Given the description of an element on the screen output the (x, y) to click on. 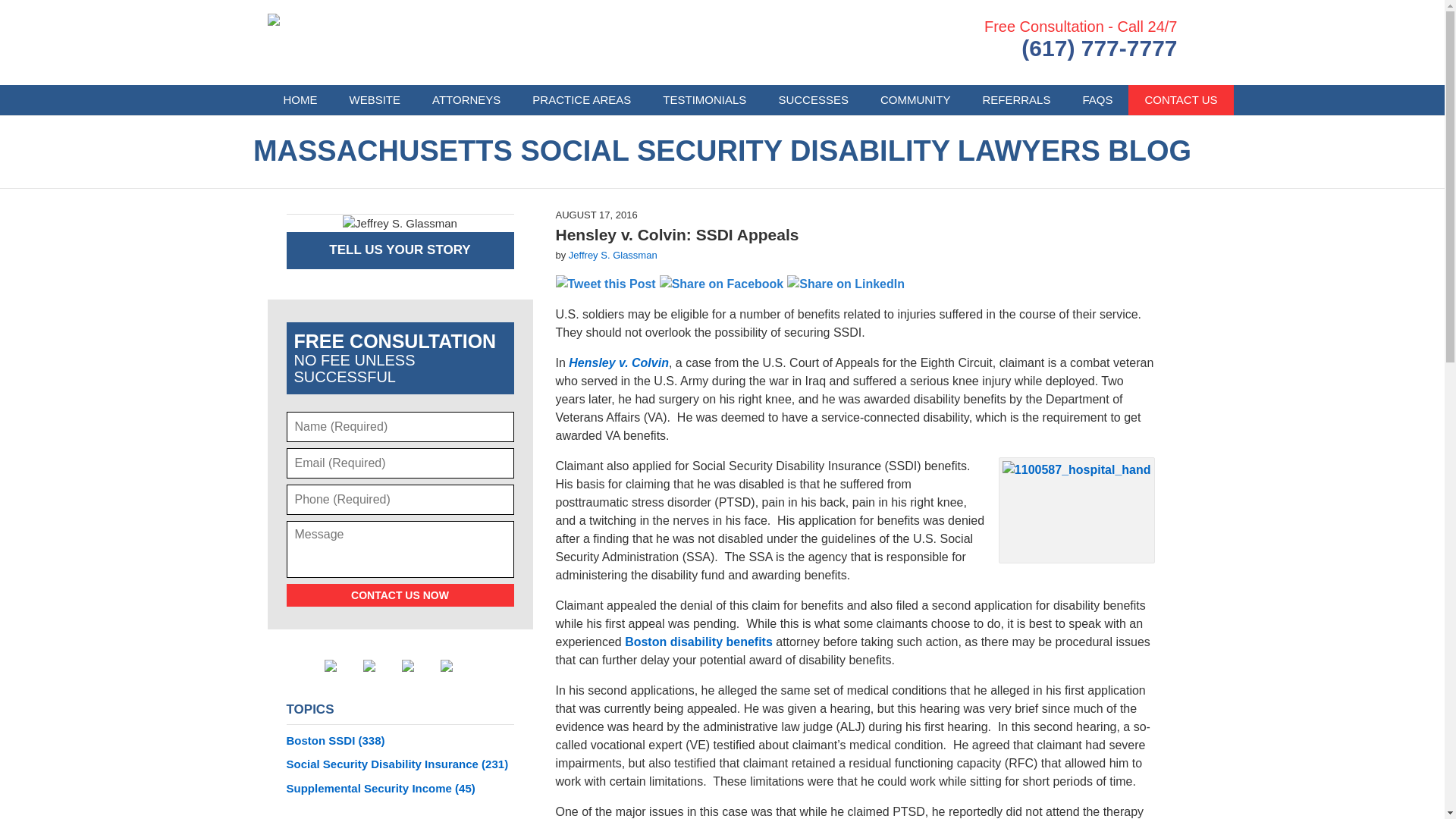
FAQS (1096, 100)
Jeffrey S. Glassman (613, 255)
Twitter (379, 665)
ATTORNEYS (466, 100)
CONTACT US (1180, 100)
HOME (299, 100)
Massachusetts Social Security Disability Lawyers Blog (401, 42)
Justia (418, 665)
REFERRALS (1015, 100)
MASSACHUSETTS SOCIAL SECURITY DISABILITY LAWYERS BLOG (722, 151)
